Given the description of an element on the screen output the (x, y) to click on. 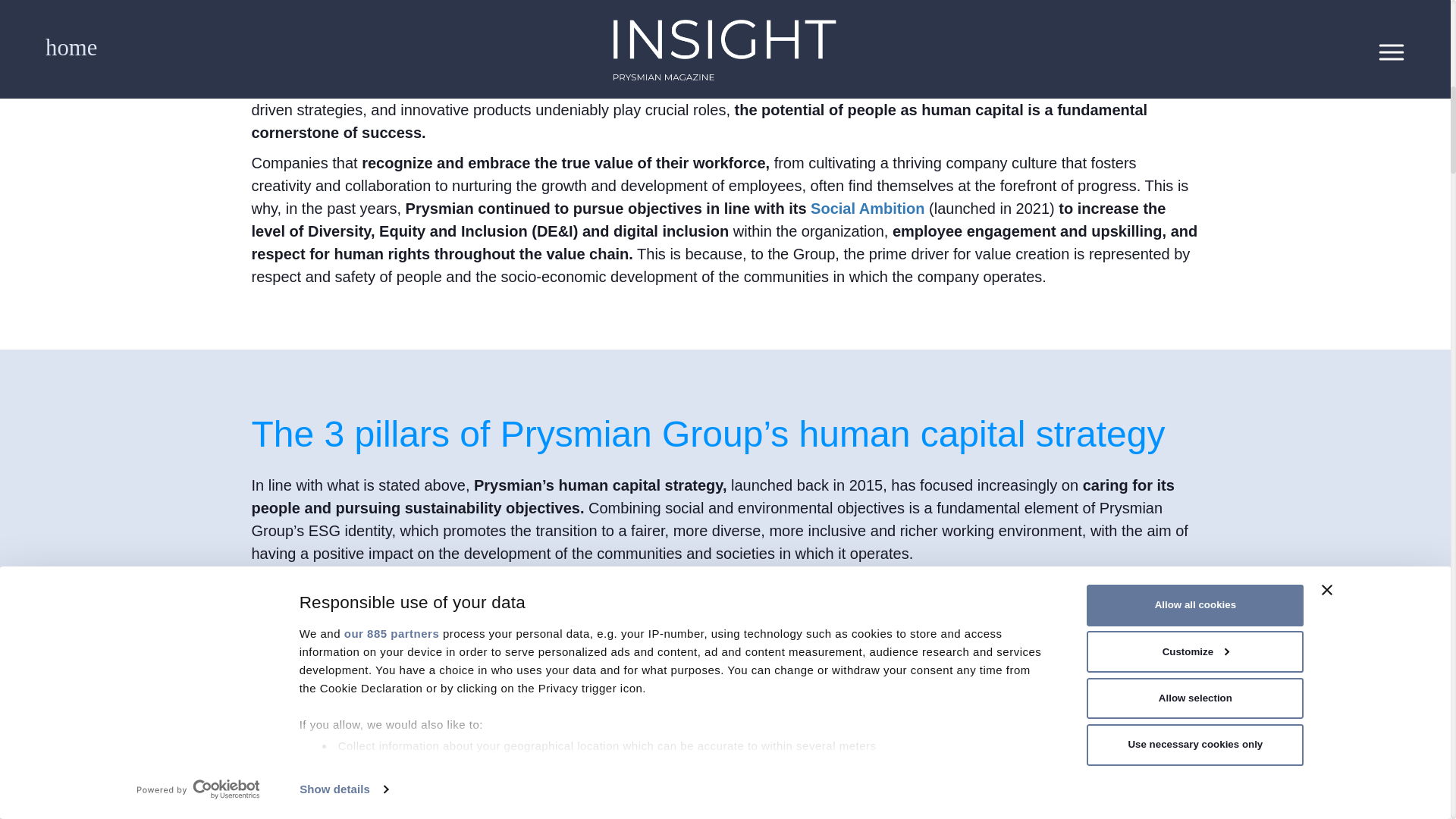
Privacy Policy (592, 74)
Cookie Policy (484, 74)
